Given the description of an element on the screen output the (x, y) to click on. 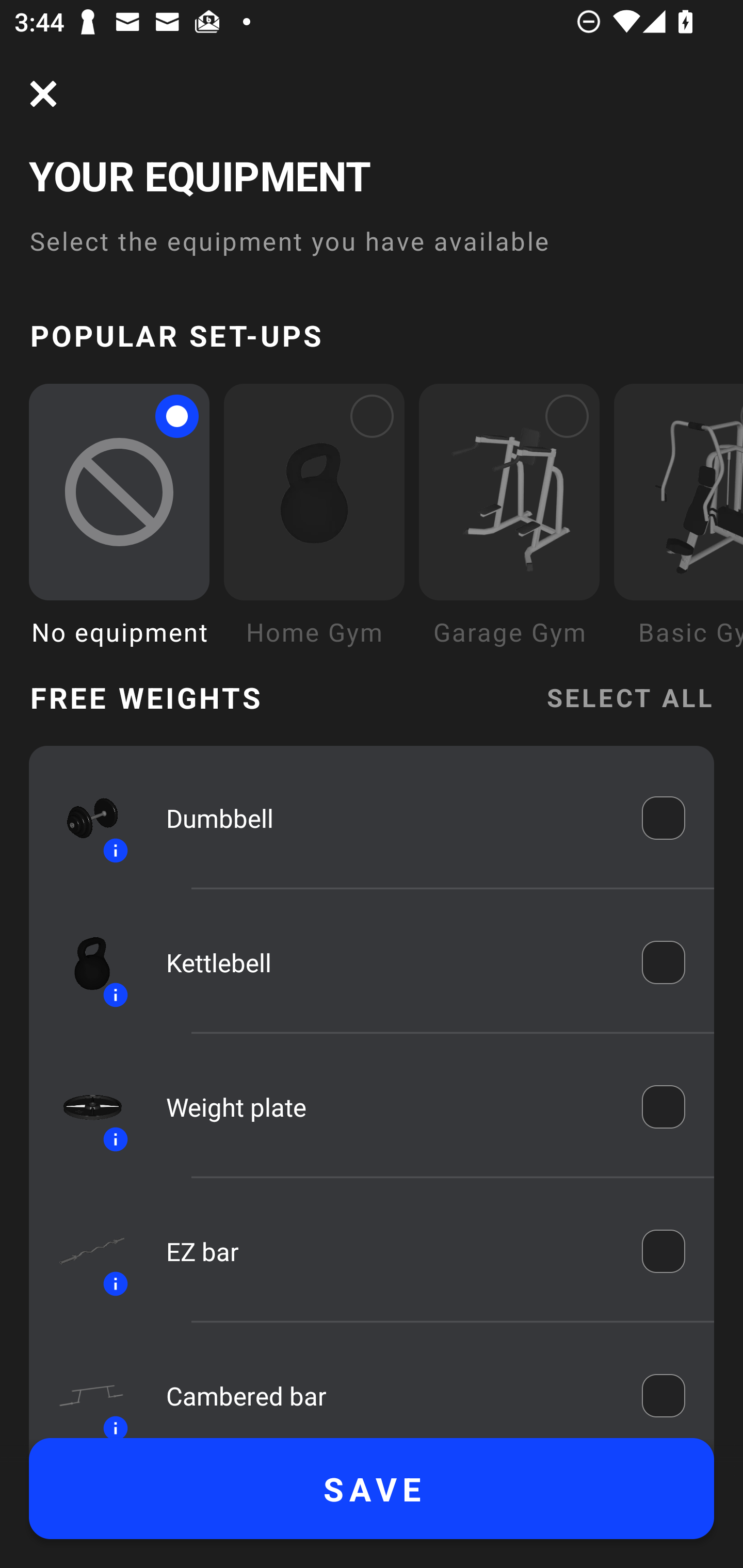
Navigation icon (43, 93)
SELECT ALL (629, 696)
Equipment icon Information icon (82, 817)
Dumbbell (389, 817)
Equipment icon Information icon (82, 961)
Kettlebell (389, 961)
Equipment icon Information icon (82, 1106)
Weight plate (389, 1106)
Equipment icon Information icon (82, 1251)
EZ bar (389, 1251)
Equipment icon Information icon (82, 1389)
Cambered bar (389, 1394)
SAVE (371, 1488)
